Given the description of an element on the screen output the (x, y) to click on. 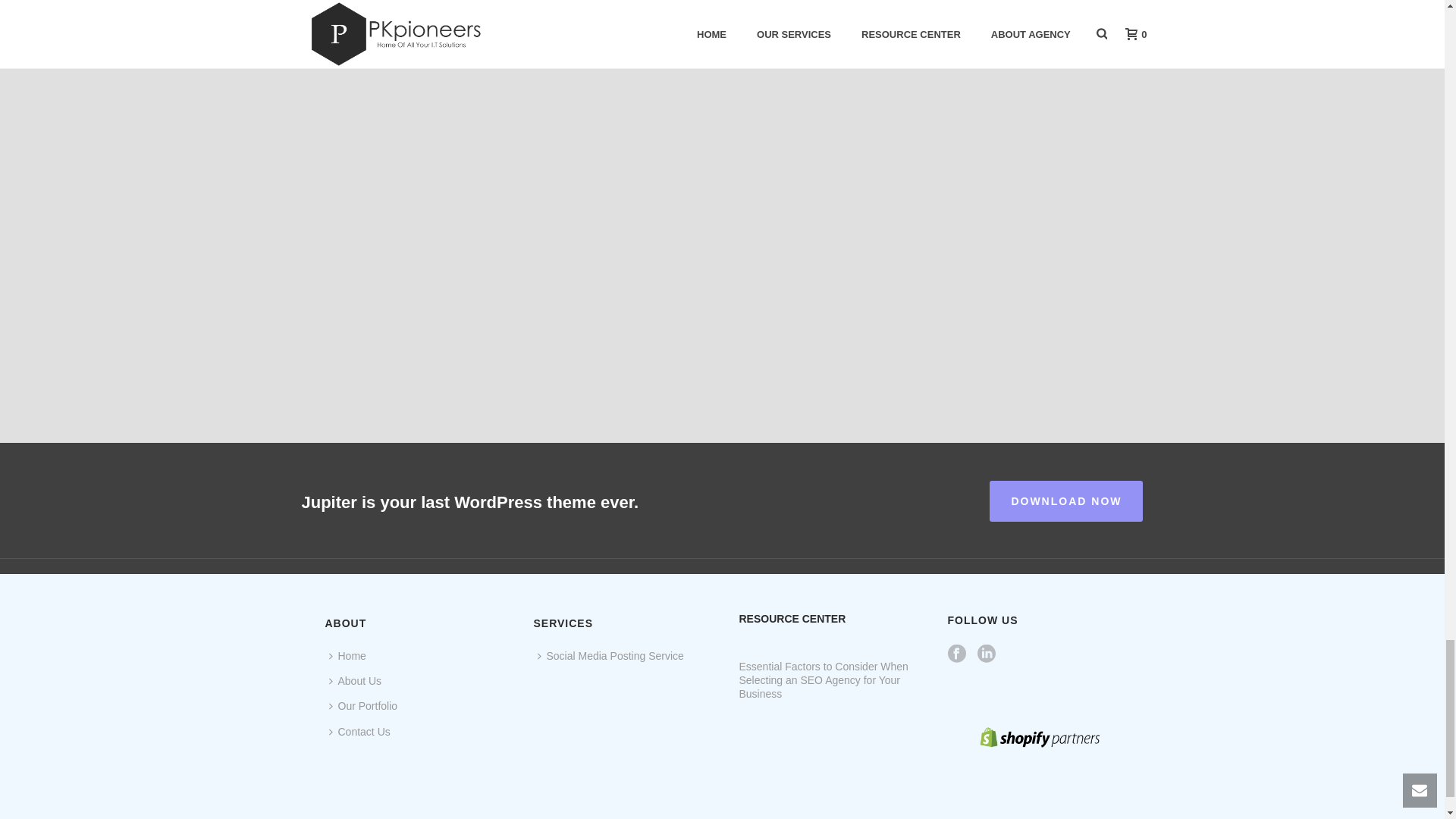
DOWNLOAD NOW (1066, 500)
